Given the description of an element on the screen output the (x, y) to click on. 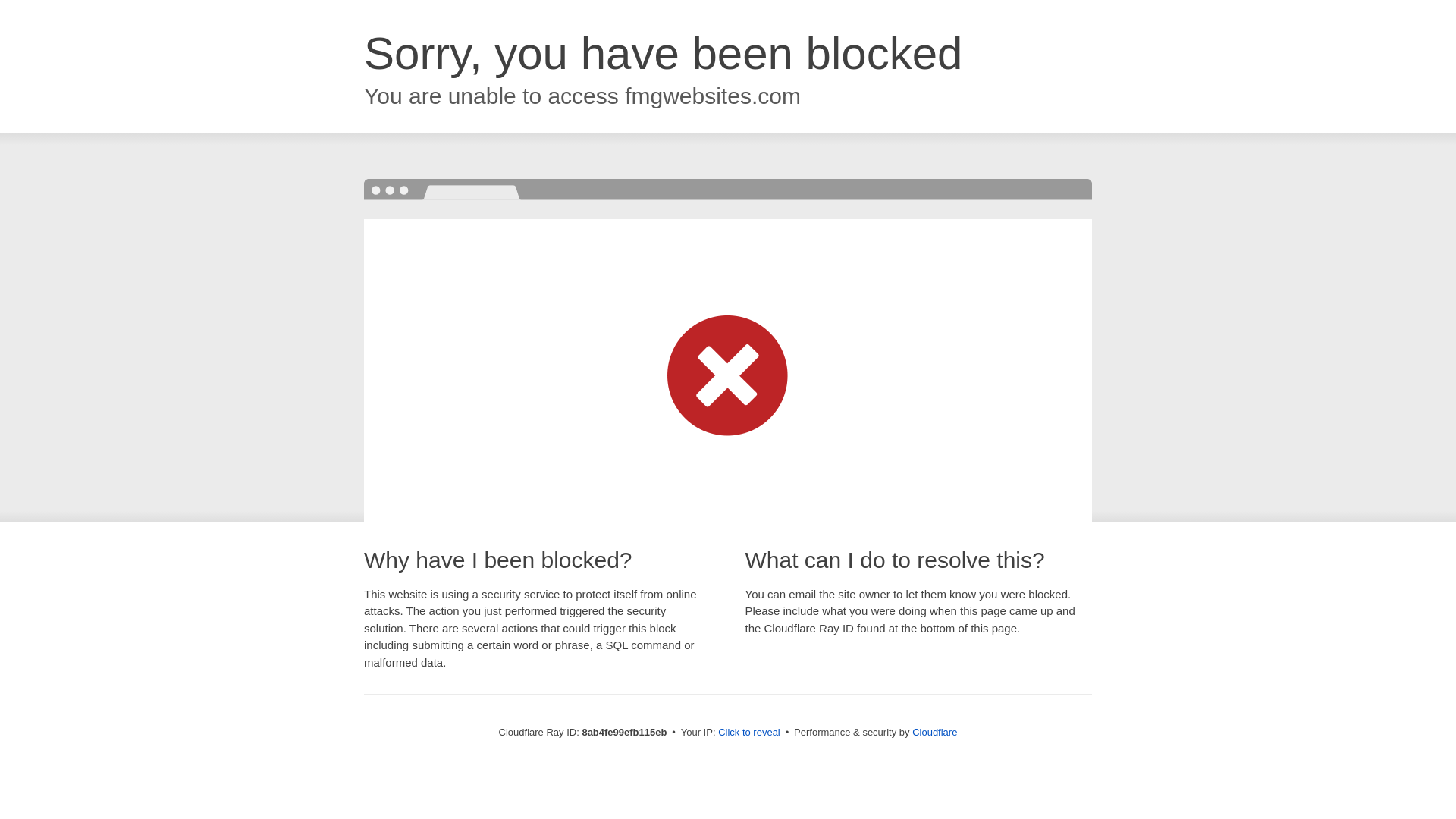
Click to reveal (748, 732)
Cloudflare (934, 731)
